Given the description of an element on the screen output the (x, y) to click on. 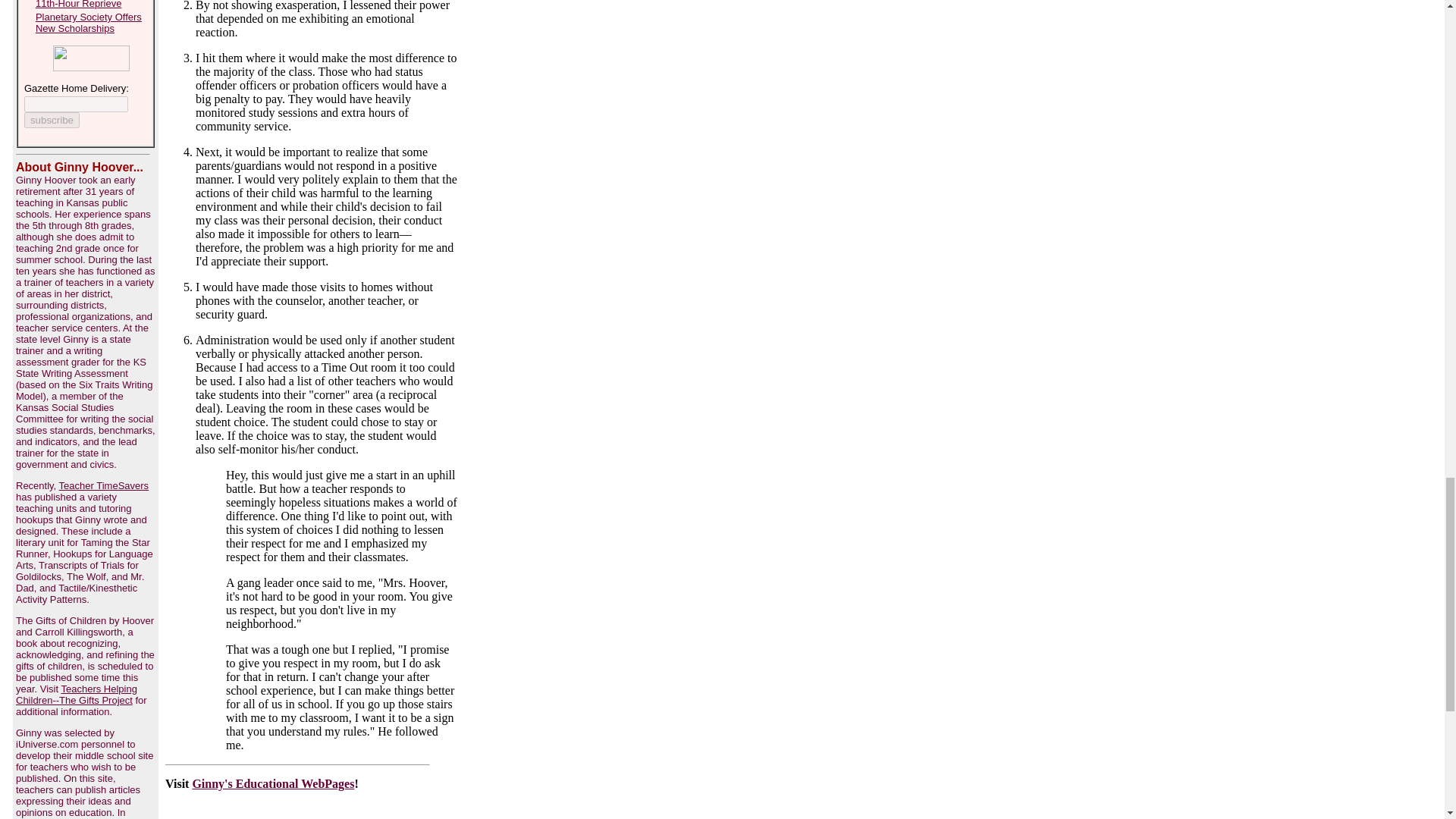
subscribe (52, 119)
